Given the description of an element on the screen output the (x, y) to click on. 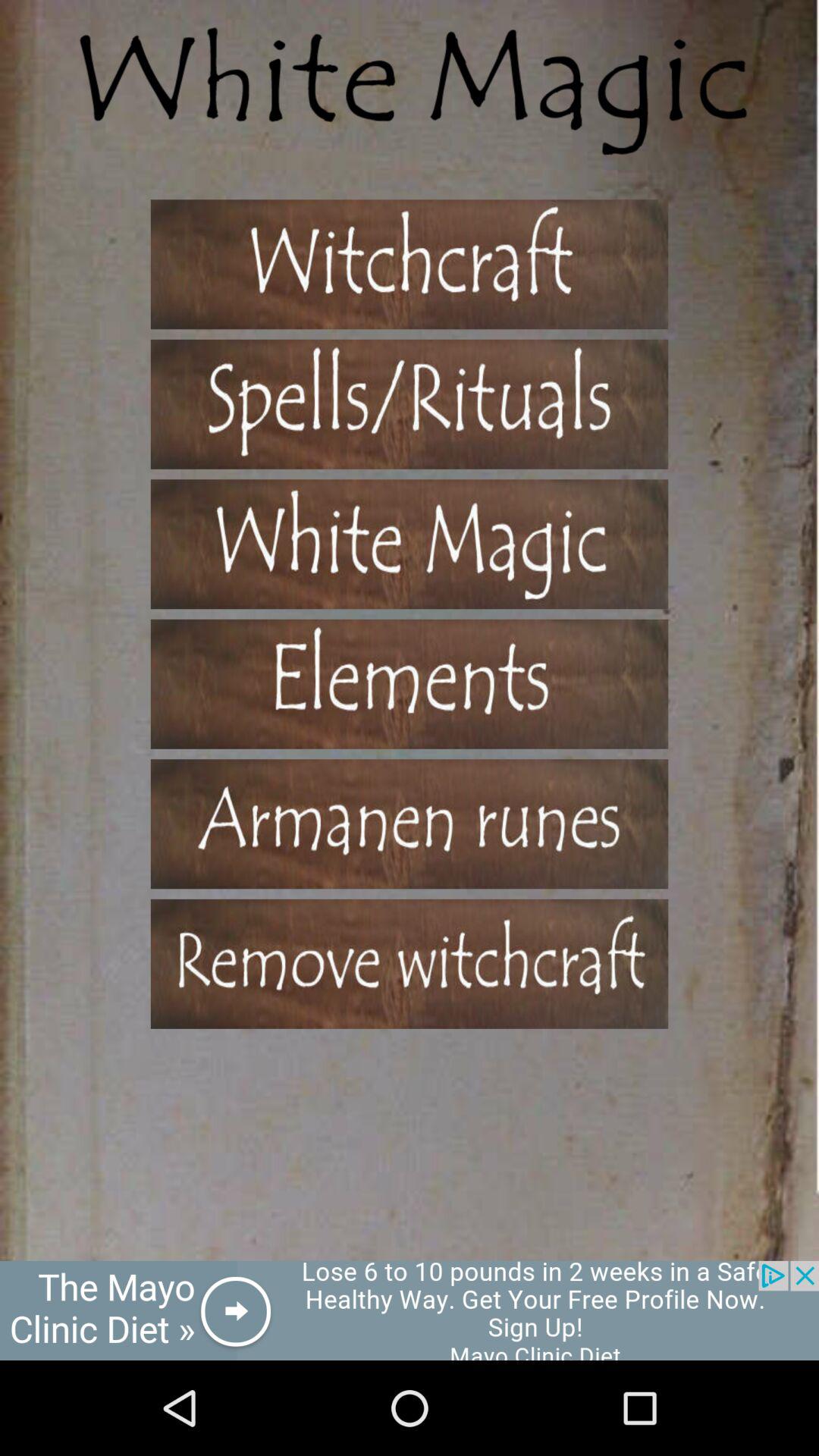
games option (409, 544)
